Given the description of an element on the screen output the (x, y) to click on. 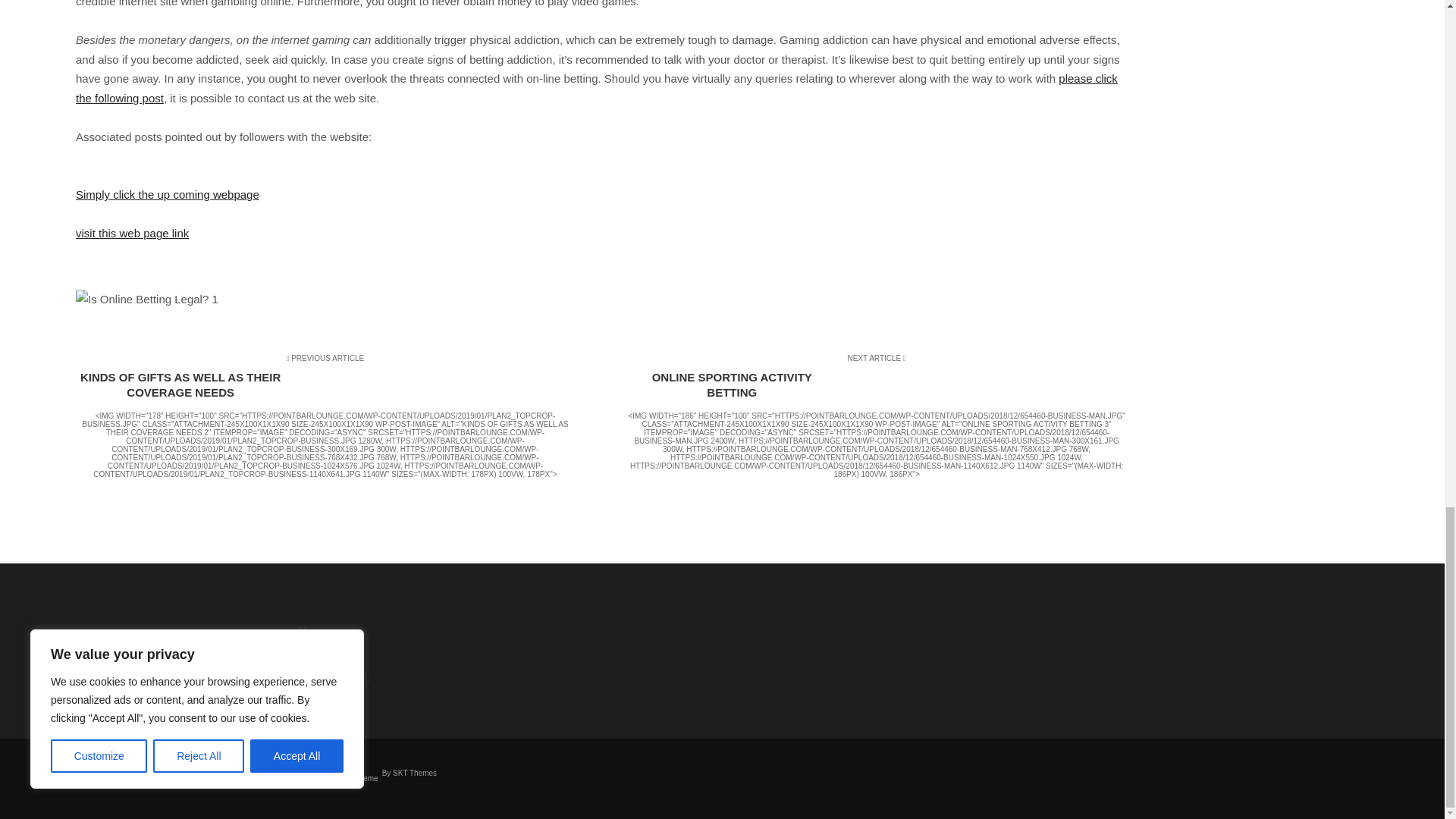
please click the following post (596, 88)
Simply click the up coming webpage (167, 194)
visit this web page link (132, 232)
